Given the description of an element on the screen output the (x, y) to click on. 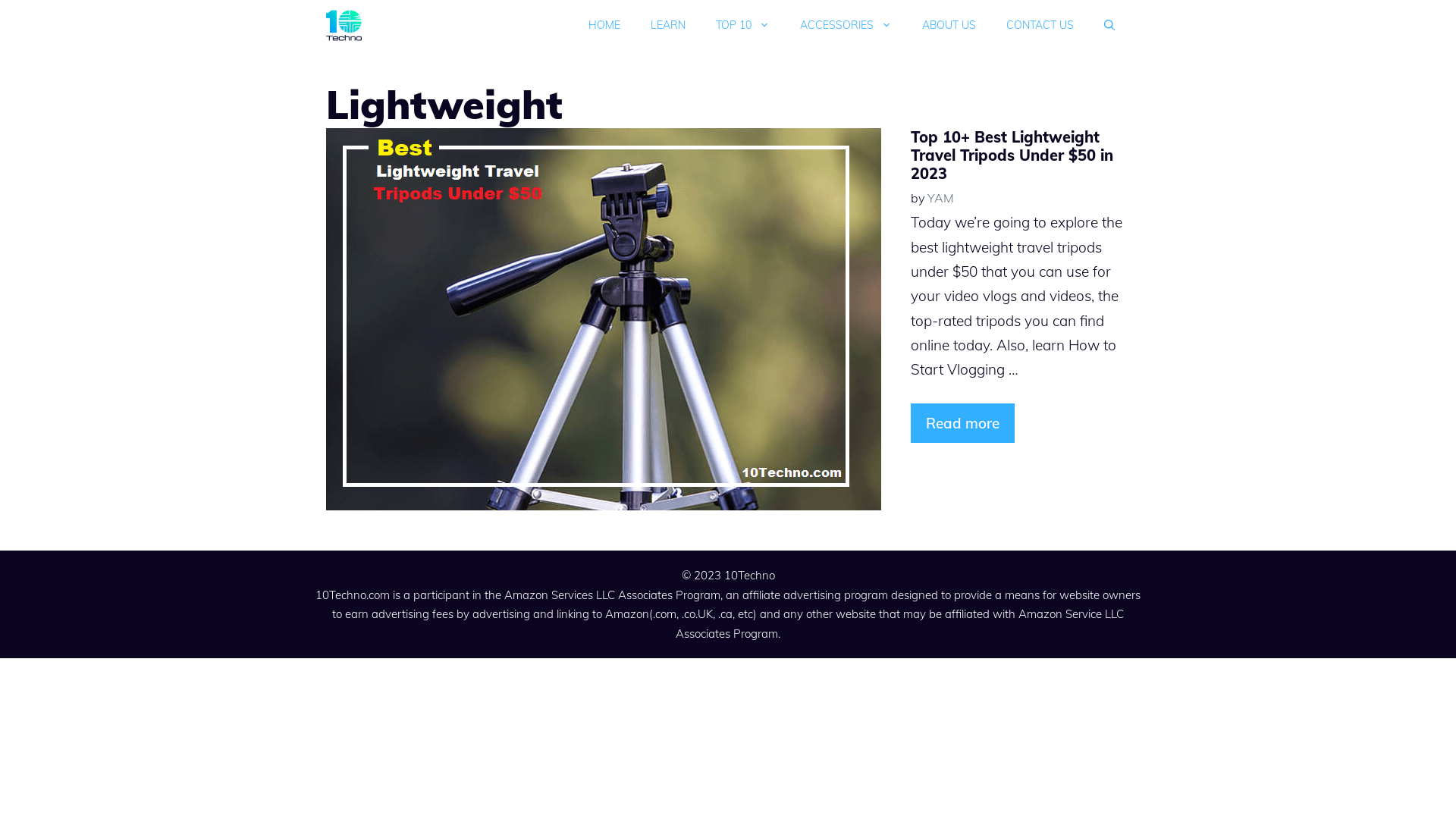
10Techno Element type: hover (343, 25)
Read more Element type: text (962, 422)
ABOUT US Element type: text (948, 25)
CONTACT US Element type: text (1039, 25)
TOP 10 Element type: text (742, 25)
ACCESSORIES Element type: text (845, 25)
HOME Element type: text (604, 25)
LEARN Element type: text (667, 25)
YAM Element type: text (940, 197)
10Techno Element type: text (748, 574)
Top 10+ Best Lightweight Travel Tripods Under $50 in 2023 Element type: text (1011, 154)
